Given the description of an element on the screen output the (x, y) to click on. 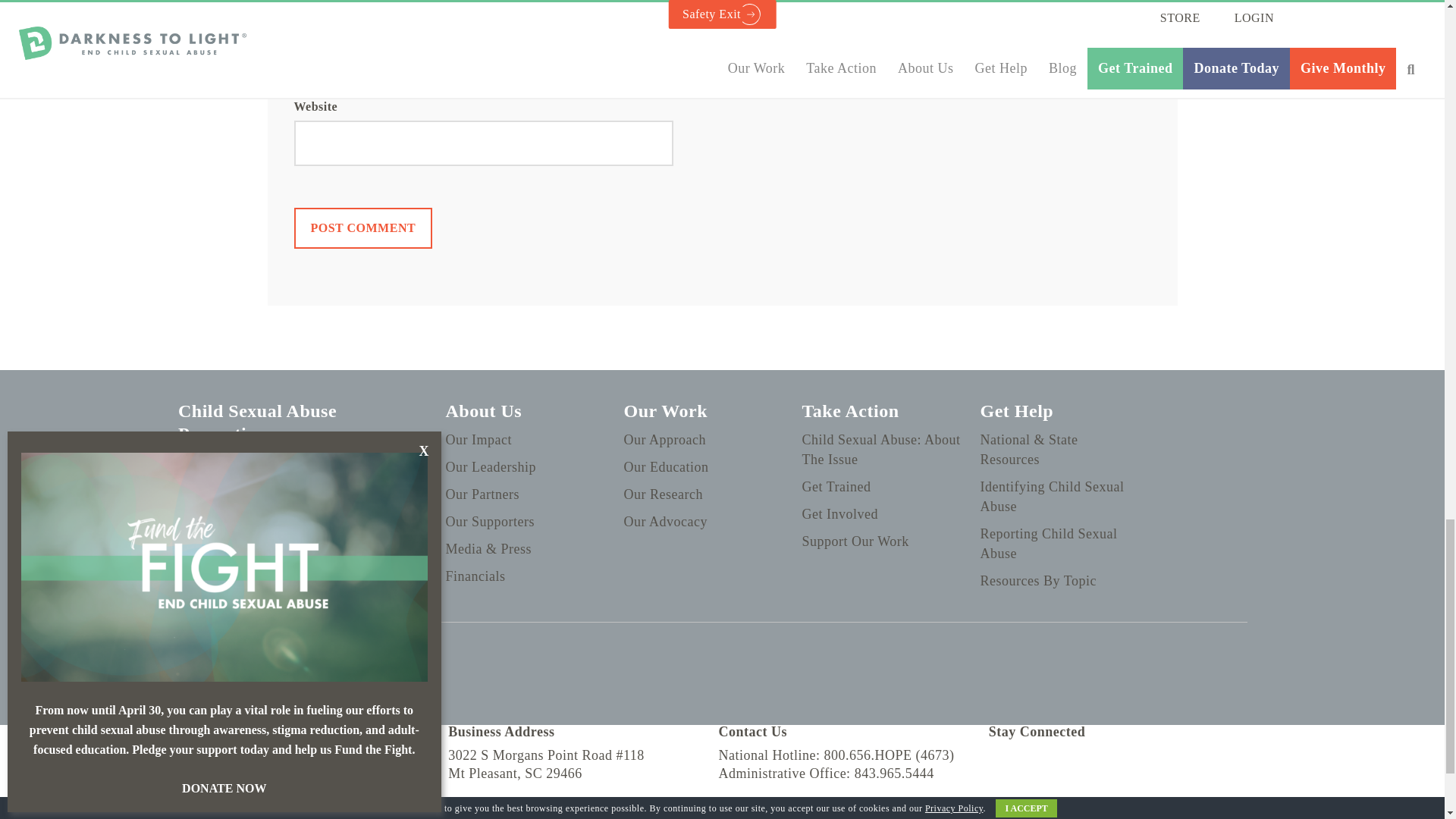
Post Comment (363, 228)
